Given the description of an element on the screen output the (x, y) to click on. 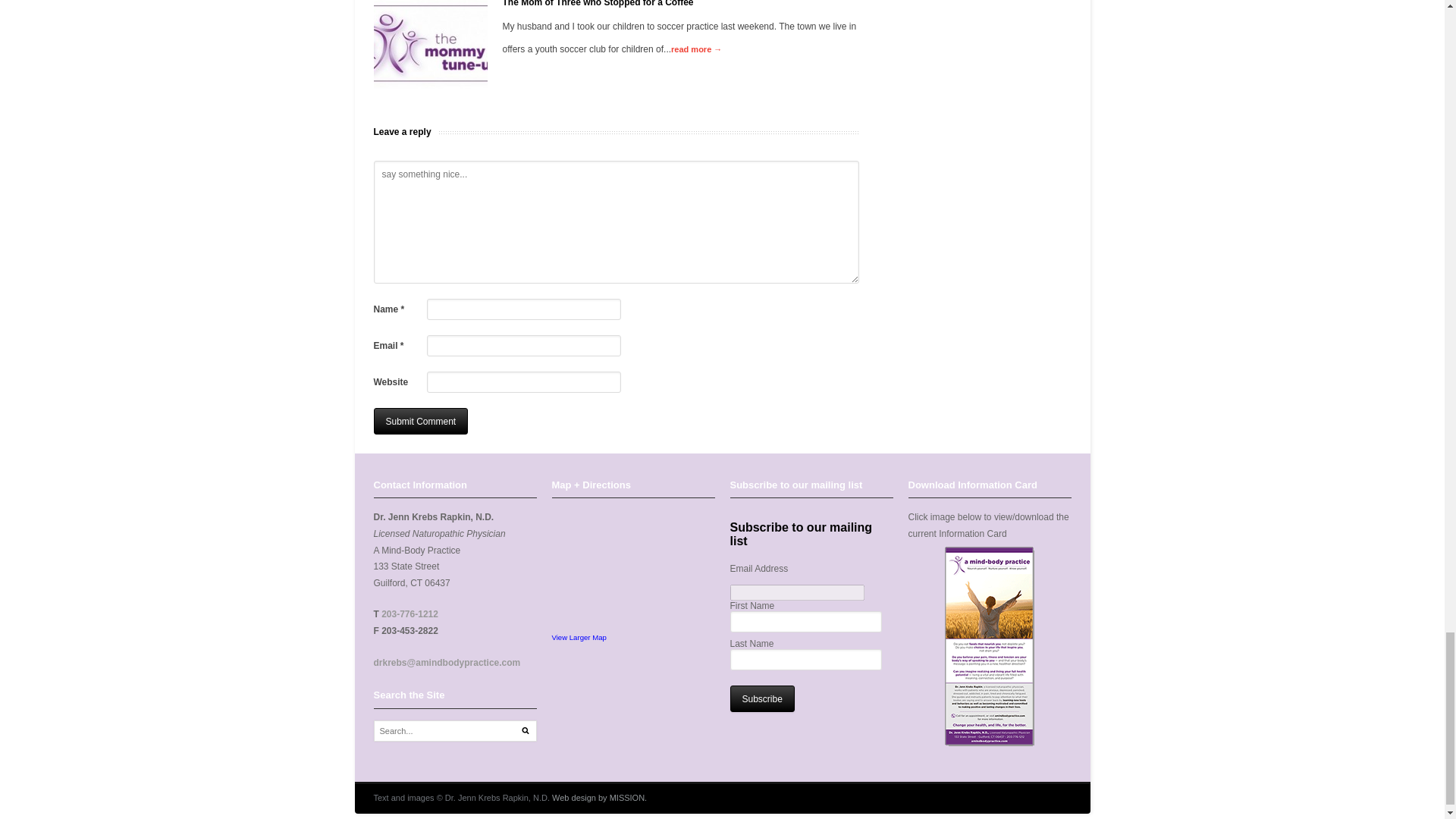
Subscribe (761, 698)
The Mom of Three who Stopped for a Coffee (429, 44)
Submit Comment (419, 420)
